Given the description of an element on the screen output the (x, y) to click on. 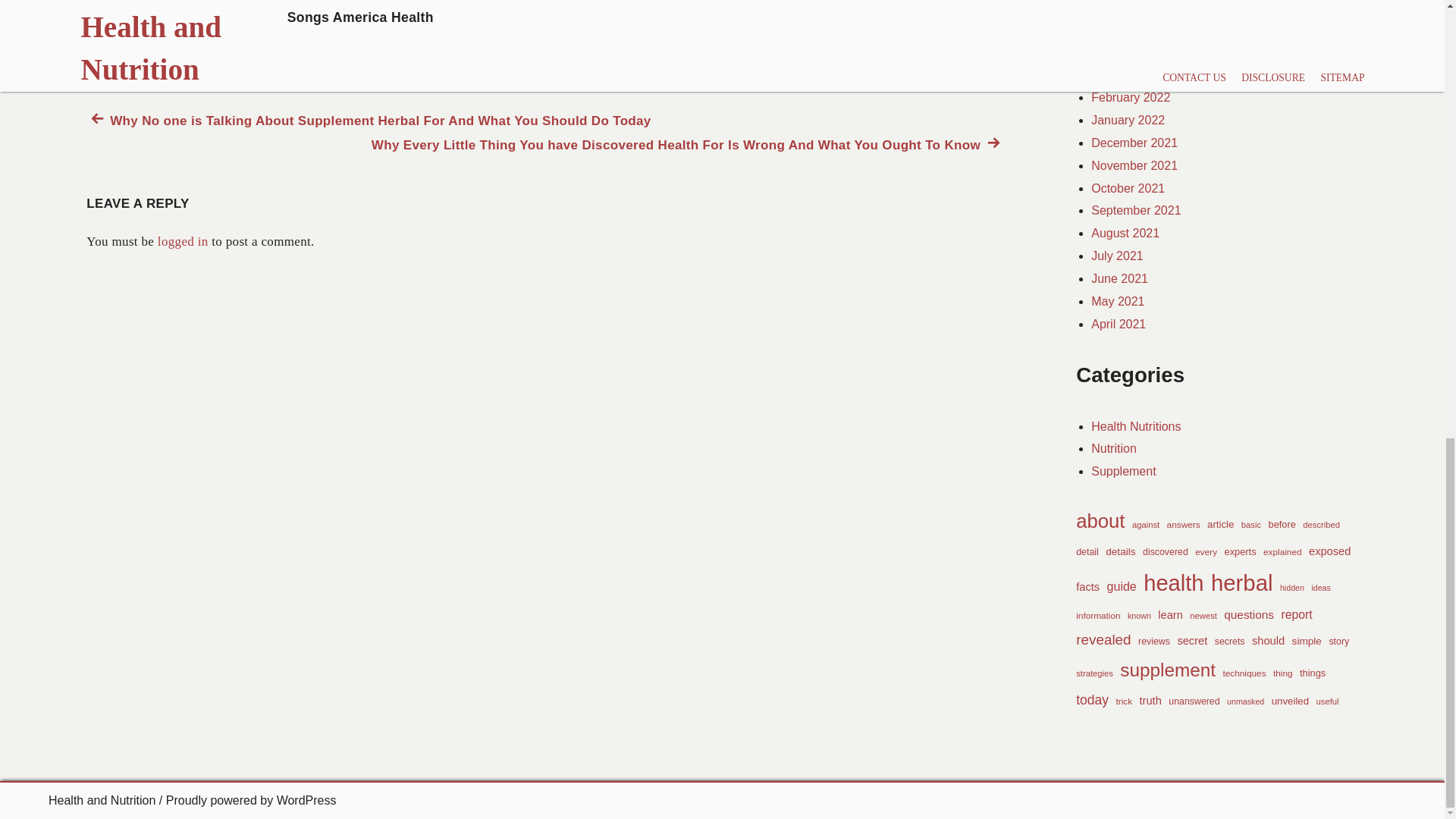
HEALTH (186, 19)
Anastasya (260, 62)
DECADE (118, 19)
MAYBE (250, 19)
logged in (182, 241)
